Given the description of an element on the screen output the (x, y) to click on. 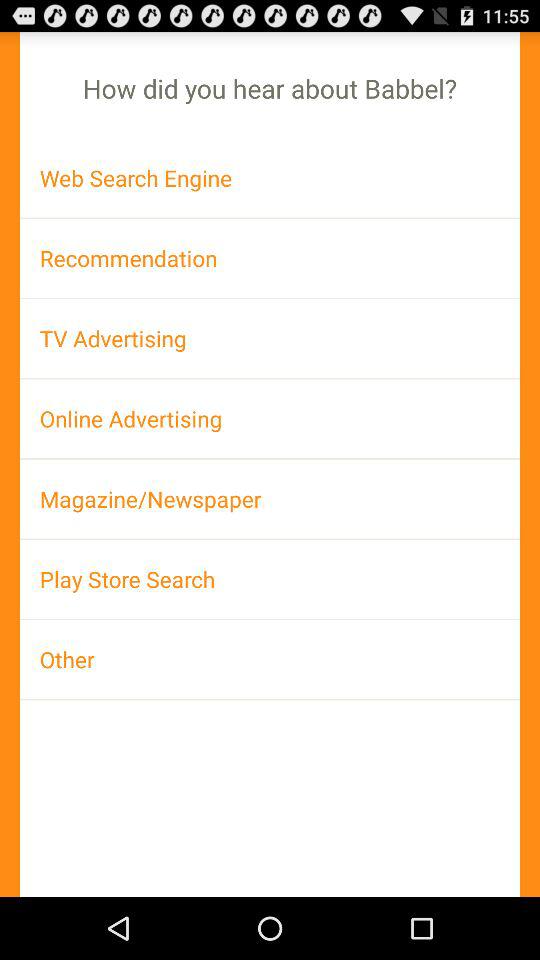
tap app at the bottom (269, 659)
